Given the description of an element on the screen output the (x, y) to click on. 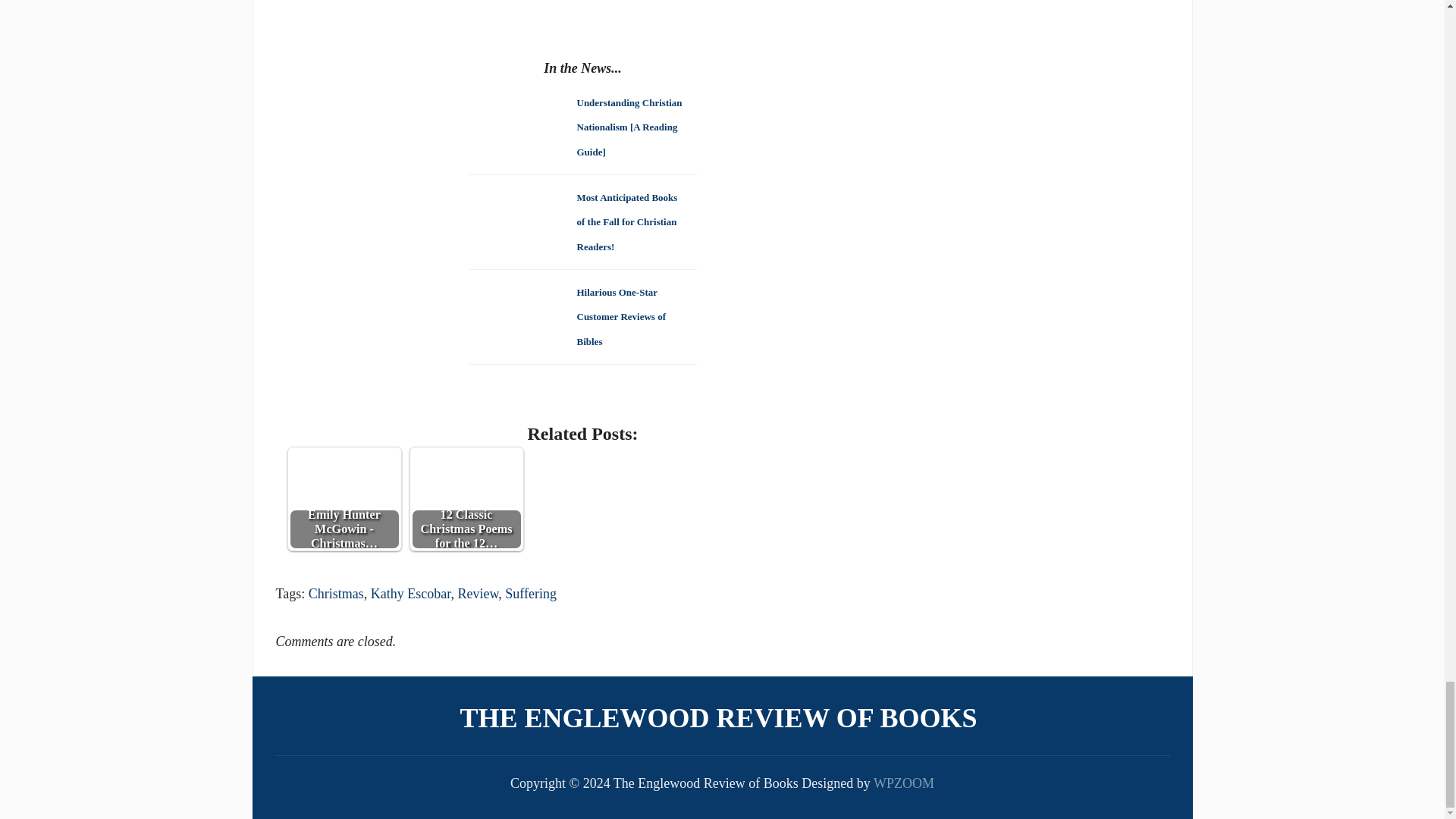
Christmas (336, 593)
Hilarious One-Star Customer Reviews of Bibles (620, 315)
Review (478, 593)
Suffering (530, 593)
Kathy Escobar (411, 593)
12 Classic Christmas Poems for the 12 Days of Christmas!!! (465, 498)
Most Anticipated Books of the Fall for Christian Readers! (626, 221)
